Given the description of an element on the screen output the (x, y) to click on. 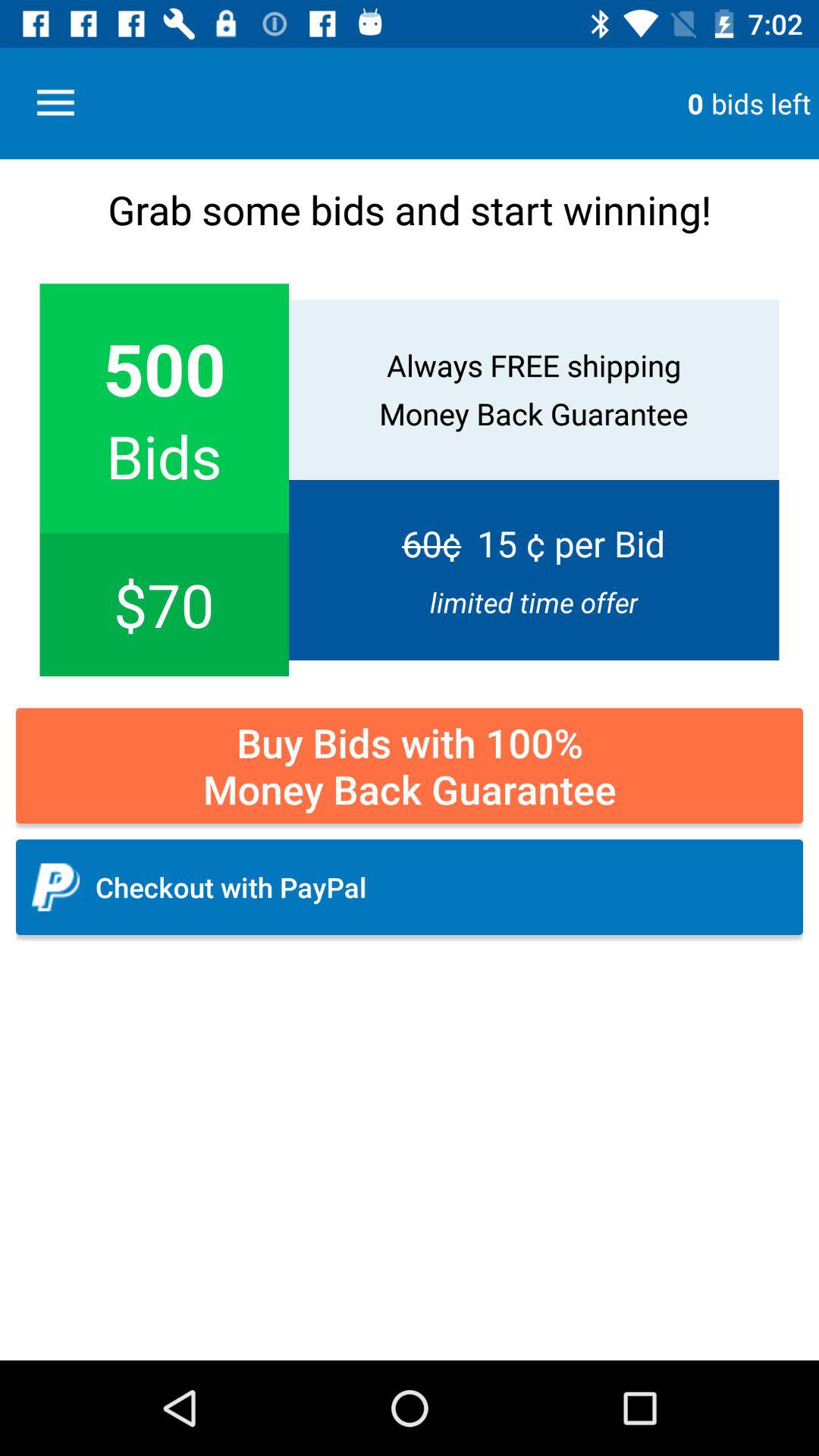
click on the text buy bids with 100 money back guarantee (409, 765)
